Given the description of an element on the screen output the (x, y) to click on. 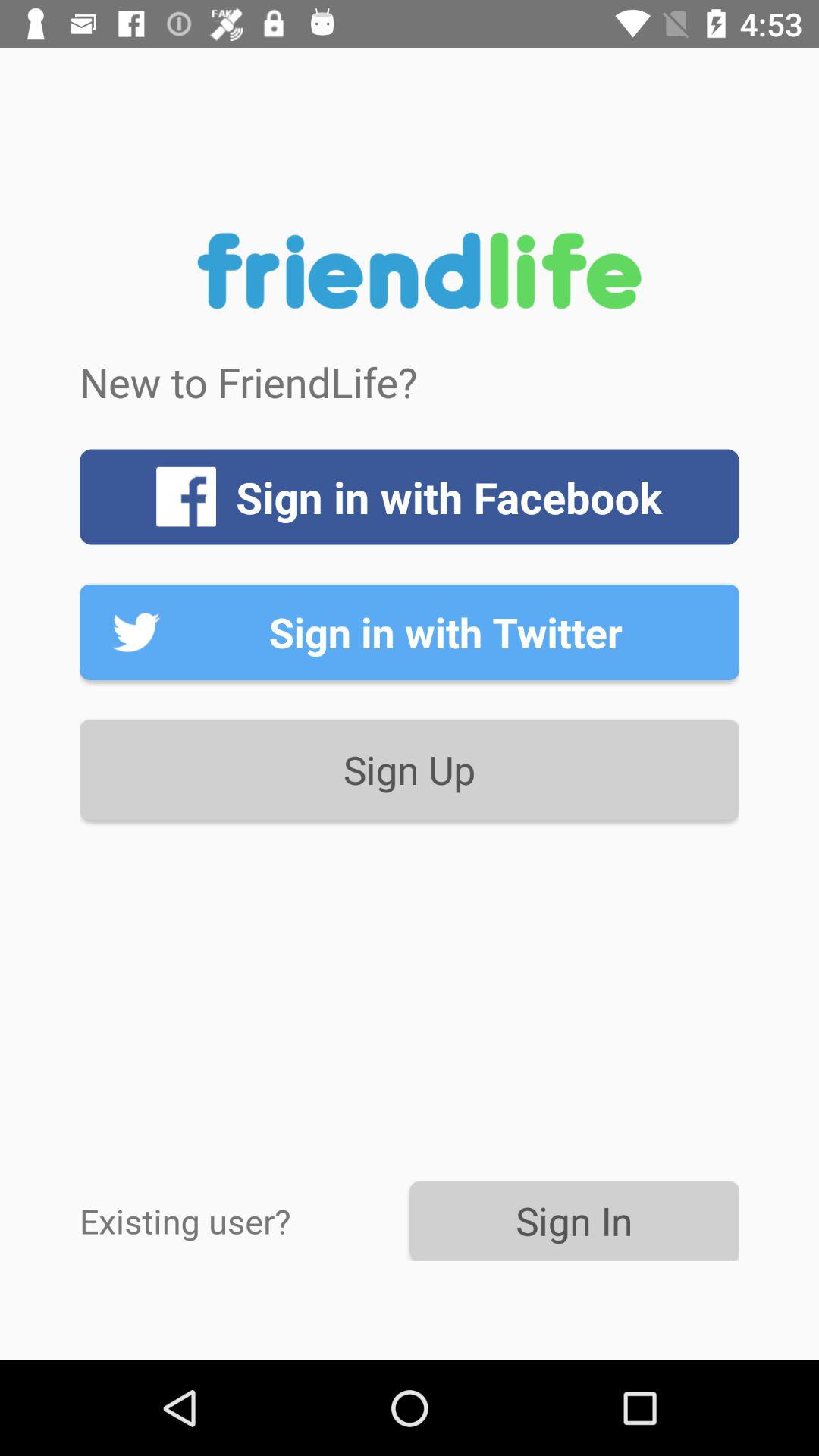
tap the sign up (409, 769)
